Given the description of an element on the screen output the (x, y) to click on. 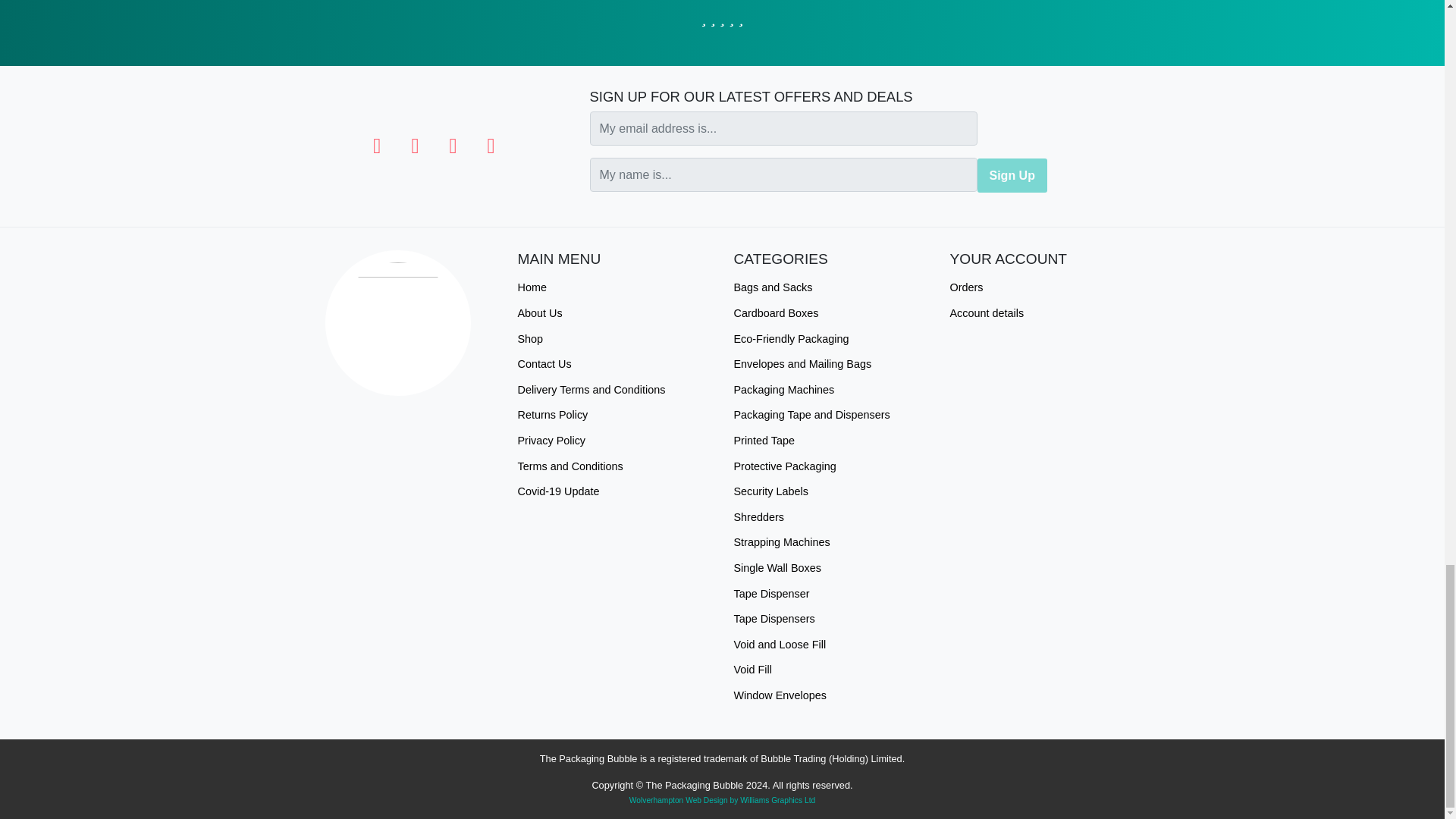
Sign Up (1011, 175)
